Given the description of an element on the screen output the (x, y) to click on. 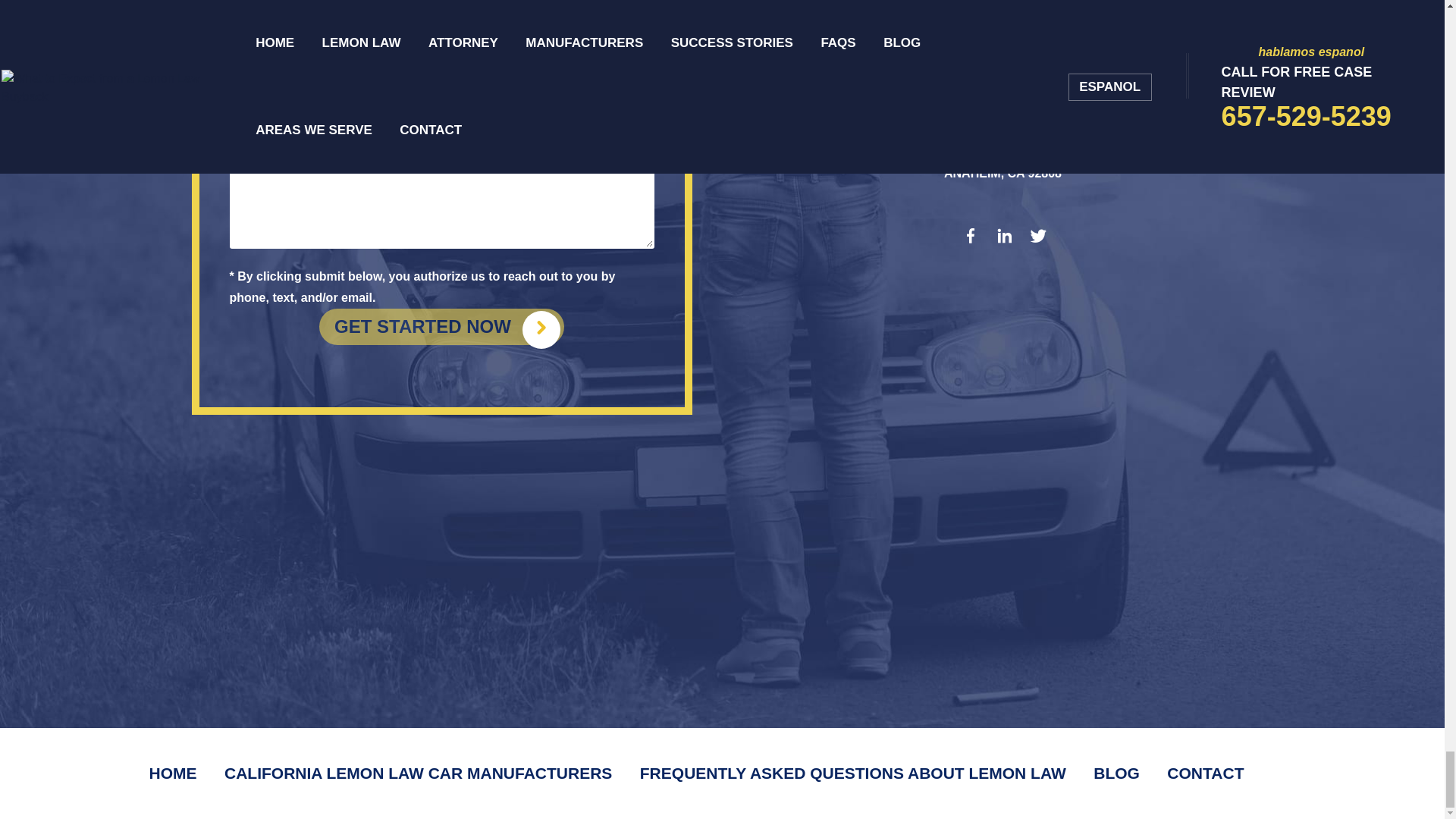
Get started now (441, 326)
